Given the description of an element on the screen output the (x, y) to click on. 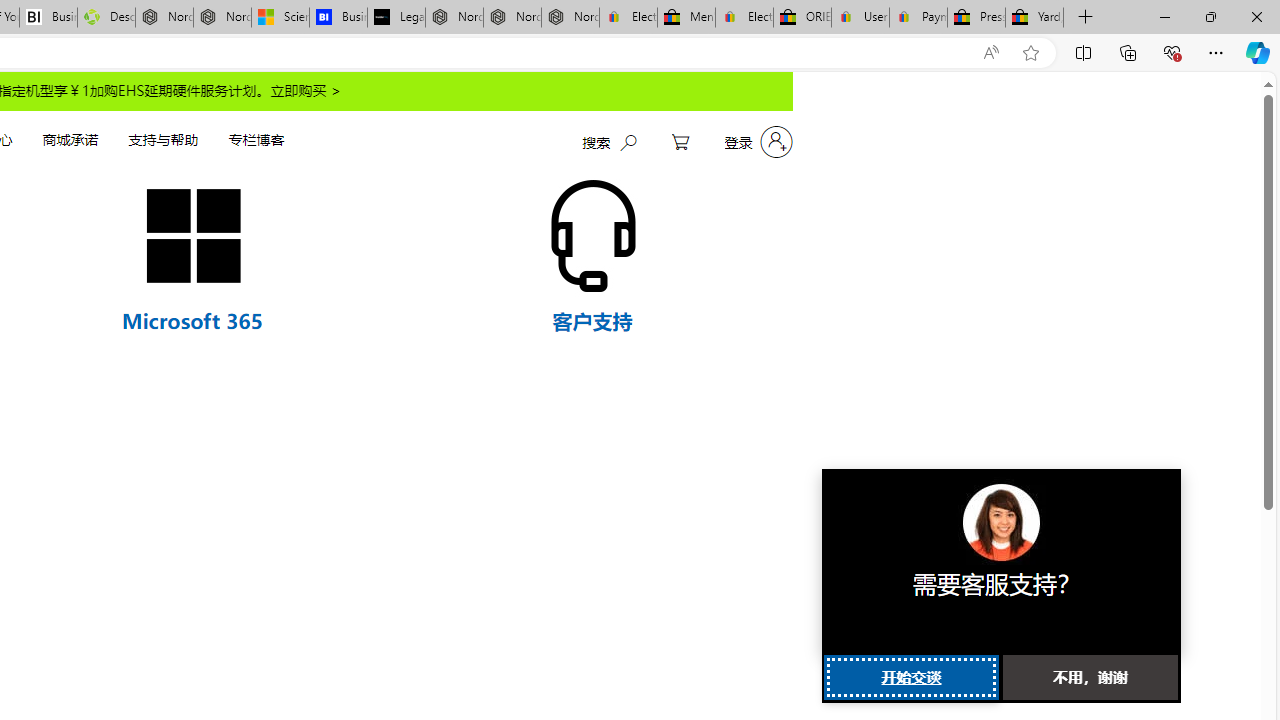
Yard, Garden & Outdoor Living (1034, 17)
Descarga Driver Updater (106, 17)
Electronics, Cars, Fashion, Collectibles & More | eBay (744, 17)
